Given the description of an element on the screen output the (x, y) to click on. 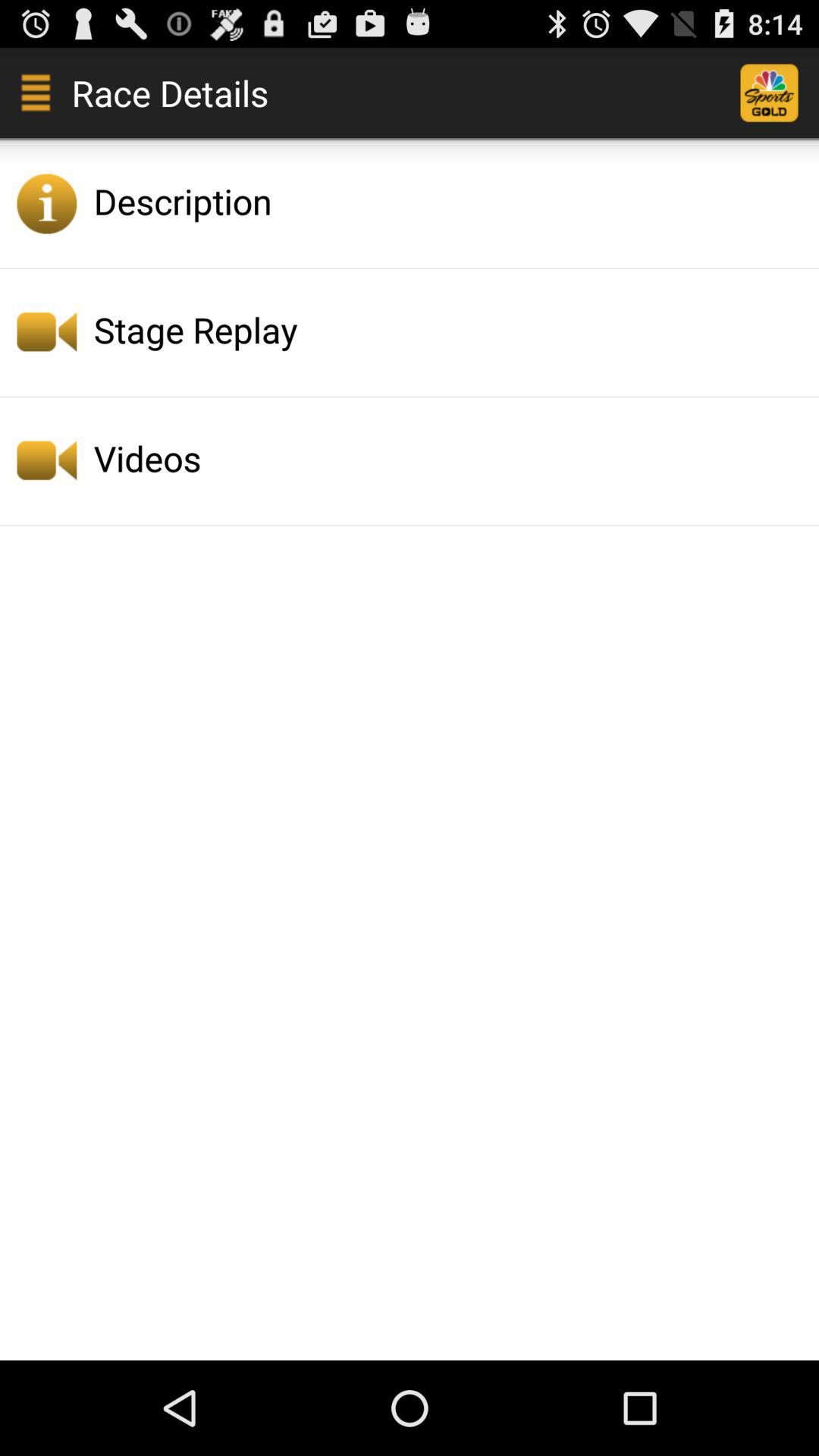
turn on the icon below stage replay (452, 457)
